Given the description of an element on the screen output the (x, y) to click on. 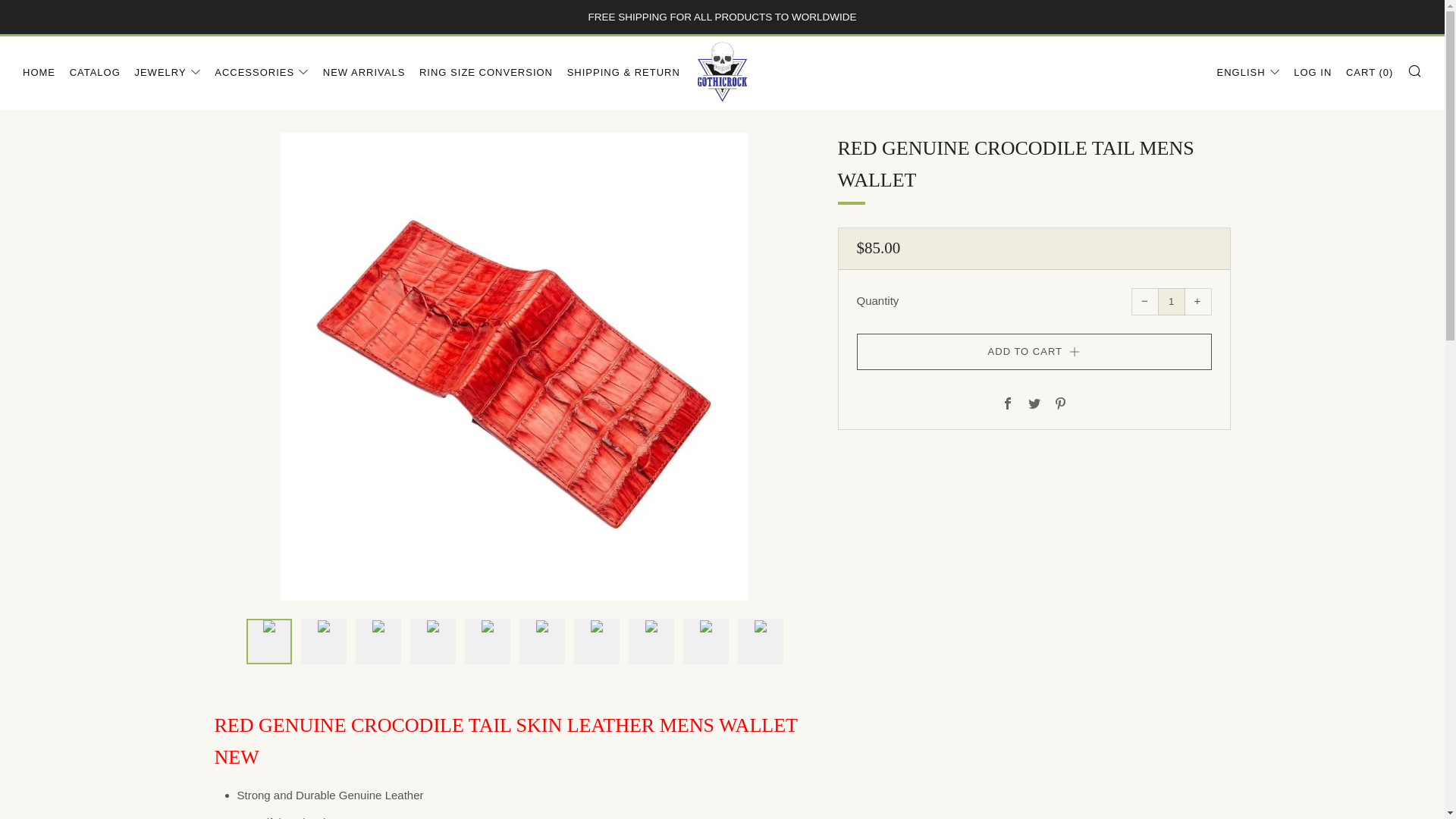
1 (1171, 301)
